Given the description of an element on the screen output the (x, y) to click on. 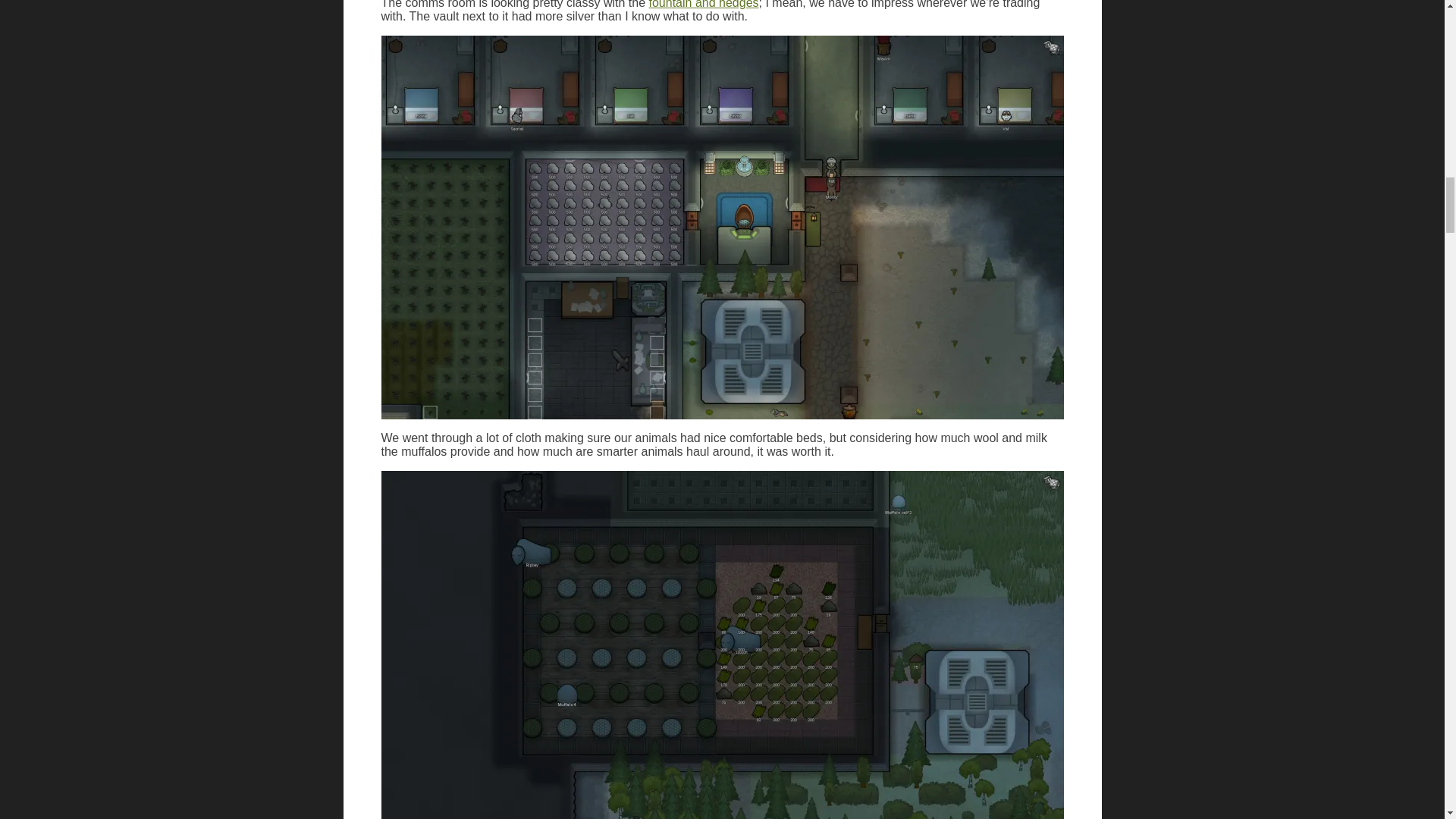
fountain and hedges (703, 4)
